Given the description of an element on the screen output the (x, y) to click on. 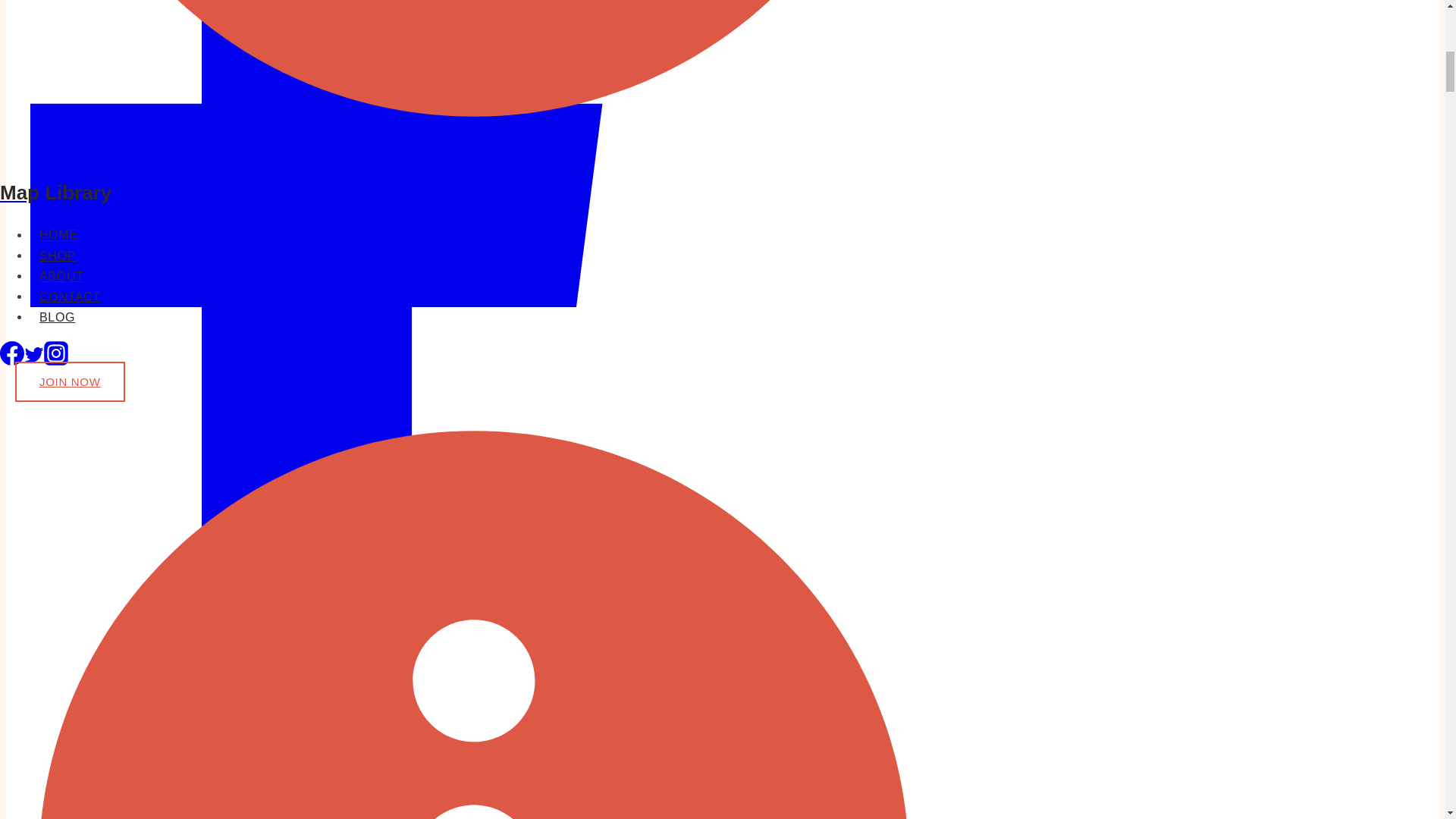
Instagram (55, 359)
Twitter (33, 354)
BLOG (57, 316)
Facebook (12, 359)
HOME (58, 234)
CONTACT (70, 296)
Map Library (473, 174)
SHOP (57, 255)
Instagram (55, 353)
Facebook (12, 353)
